Given the description of an element on the screen output the (x, y) to click on. 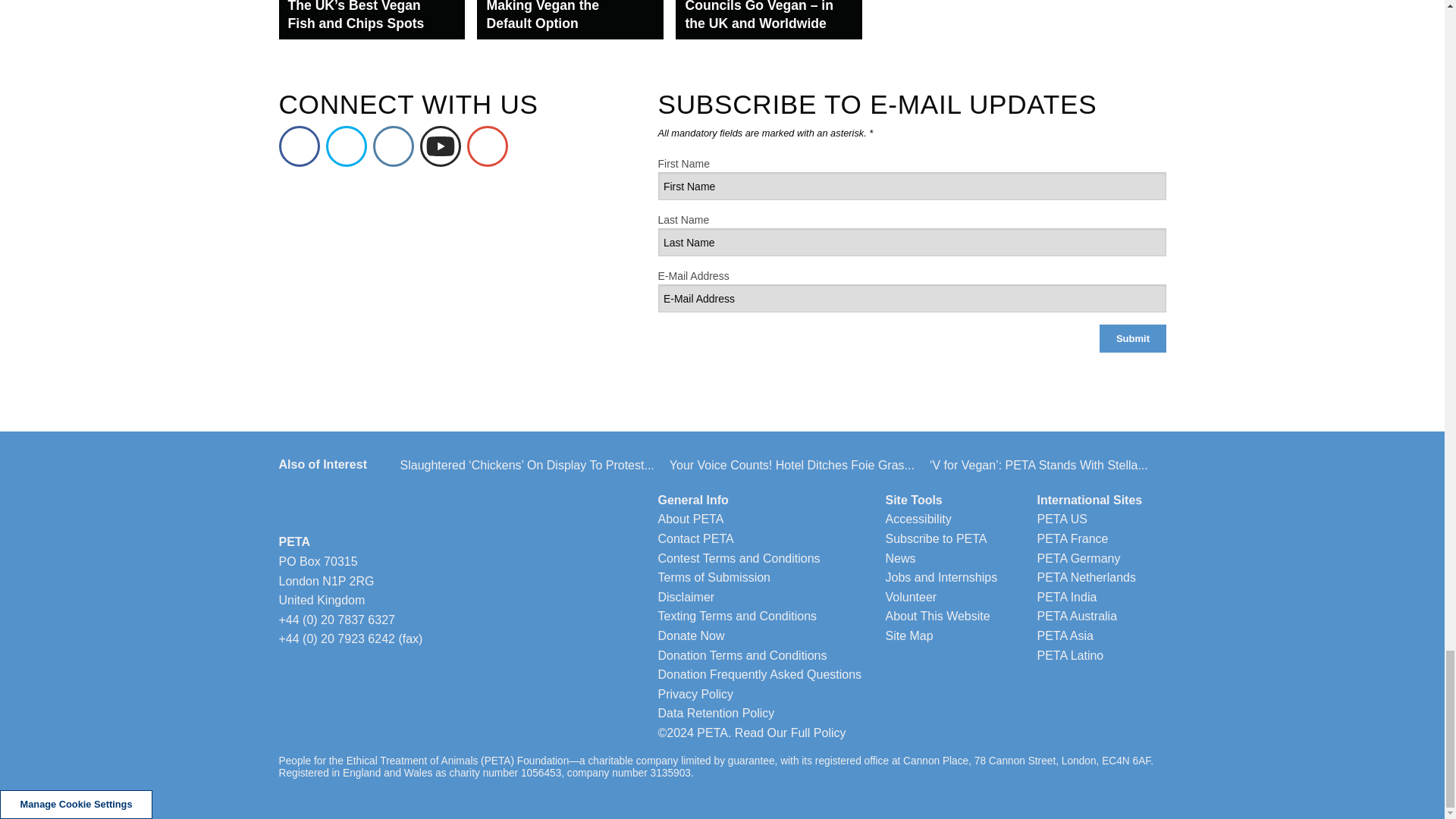
Submit (1132, 338)
